Given the description of an element on the screen output the (x, y) to click on. 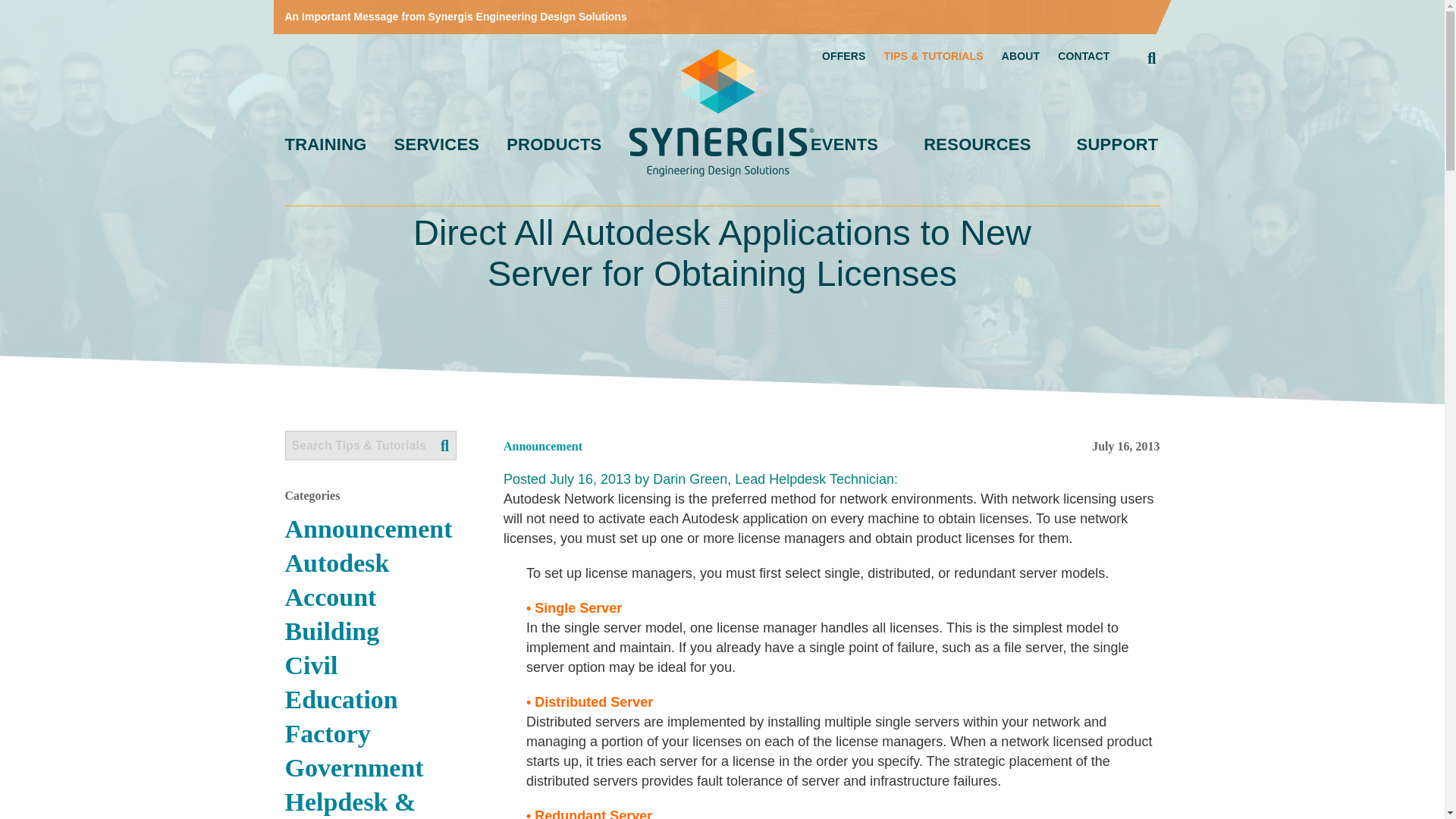
SERVICES (437, 144)
PRODUCTS (553, 144)
CONTACT (1083, 56)
TRAINING (325, 144)
OFFERS (844, 56)
ABOUT (1020, 56)
EVENTS (843, 144)
